Given the description of an element on the screen output the (x, y) to click on. 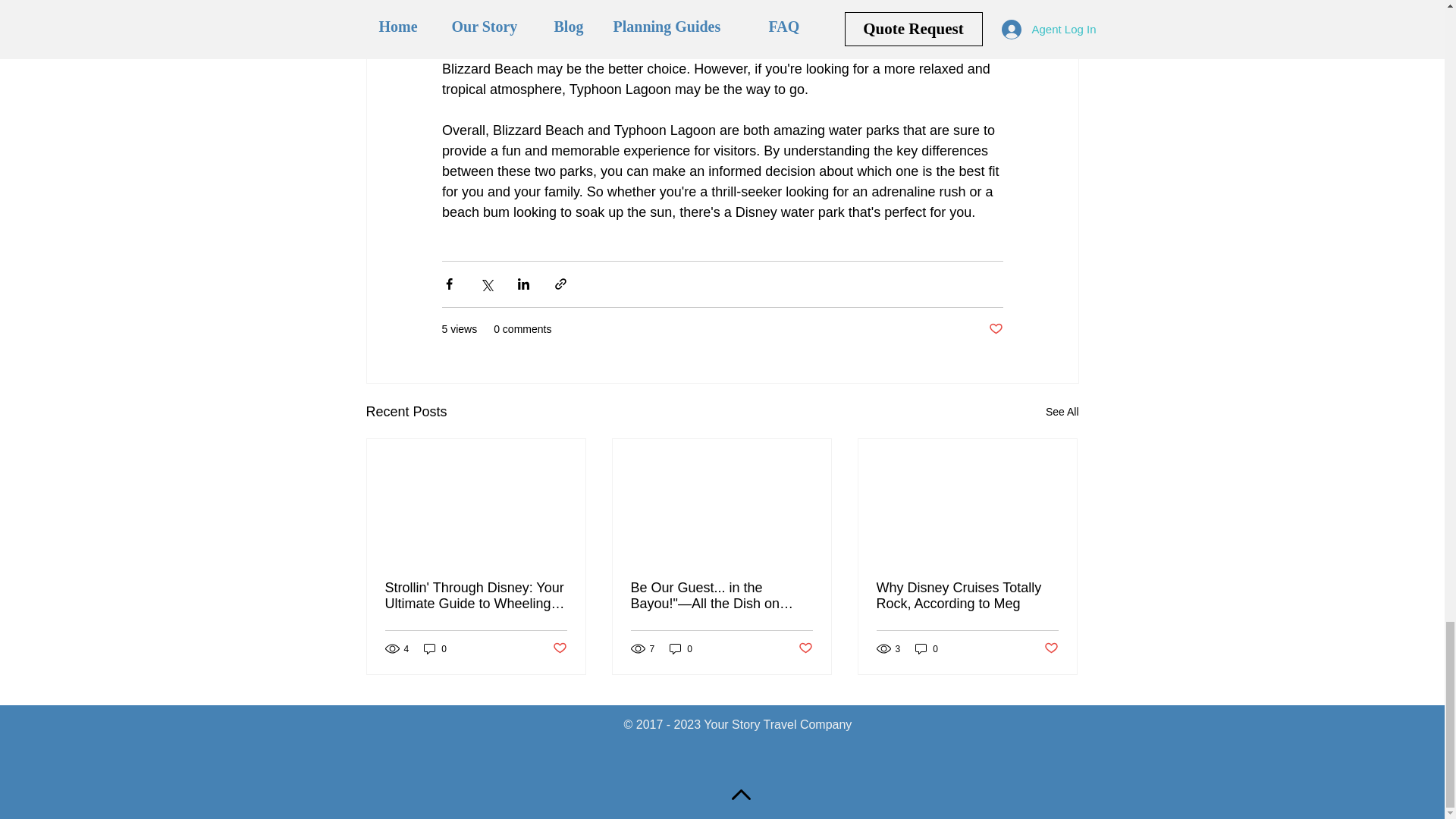
Post not marked as liked (1050, 648)
See All (1061, 412)
Post not marked as liked (804, 648)
Post not marked as liked (558, 648)
Why Disney Cruises Totally Rock, According to Meg (967, 595)
0 (681, 648)
0 (435, 648)
Post not marked as liked (995, 329)
0 (926, 648)
